Given the description of an element on the screen output the (x, y) to click on. 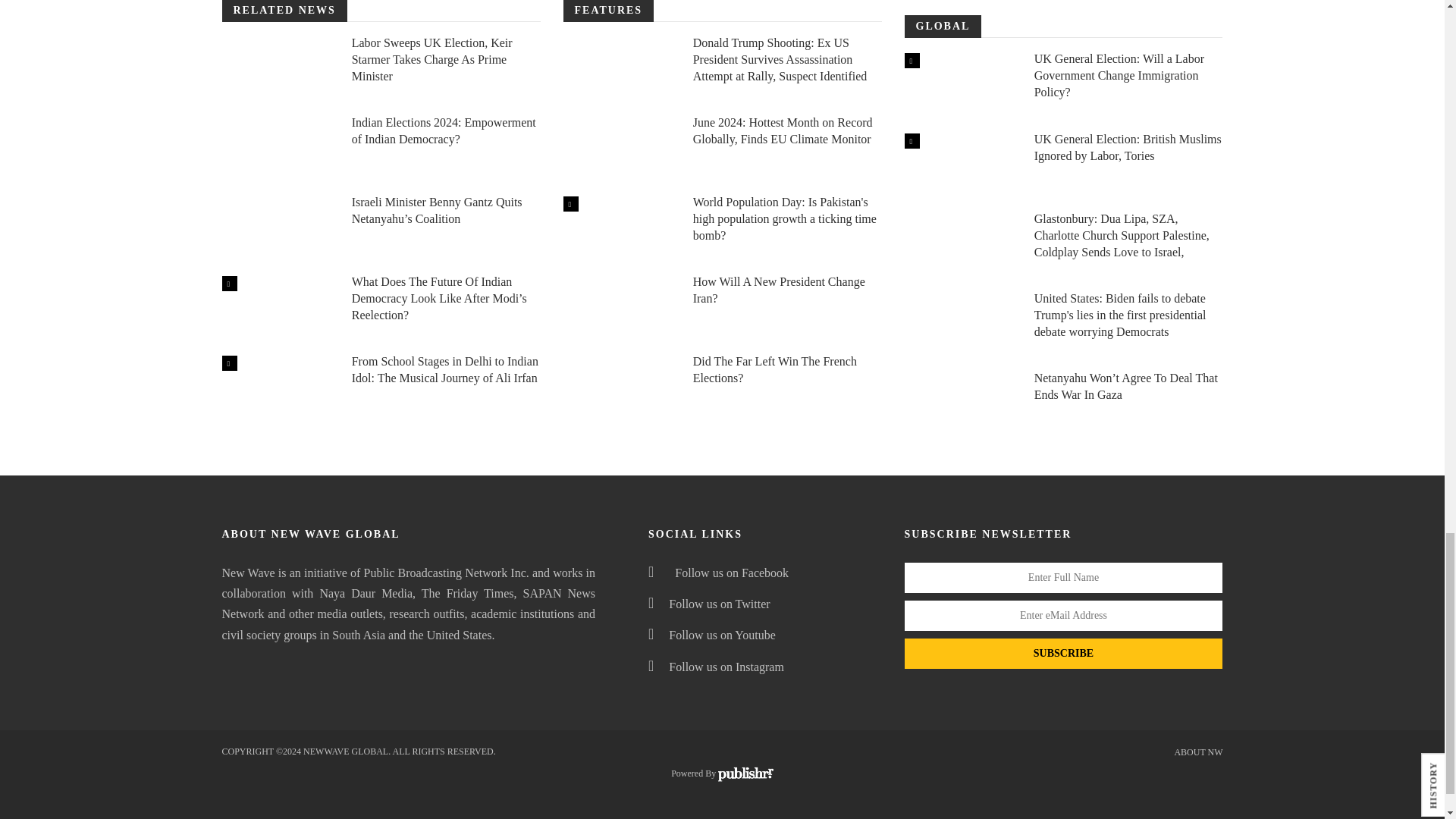
Subscribe (1063, 653)
How Will A New President Change Iran? (619, 308)
Did The Far Left Win The French Elections? (619, 387)
Indian Elections 2024: Empowerment of Indian Democracy? (278, 148)
